Given the description of an element on the screen output the (x, y) to click on. 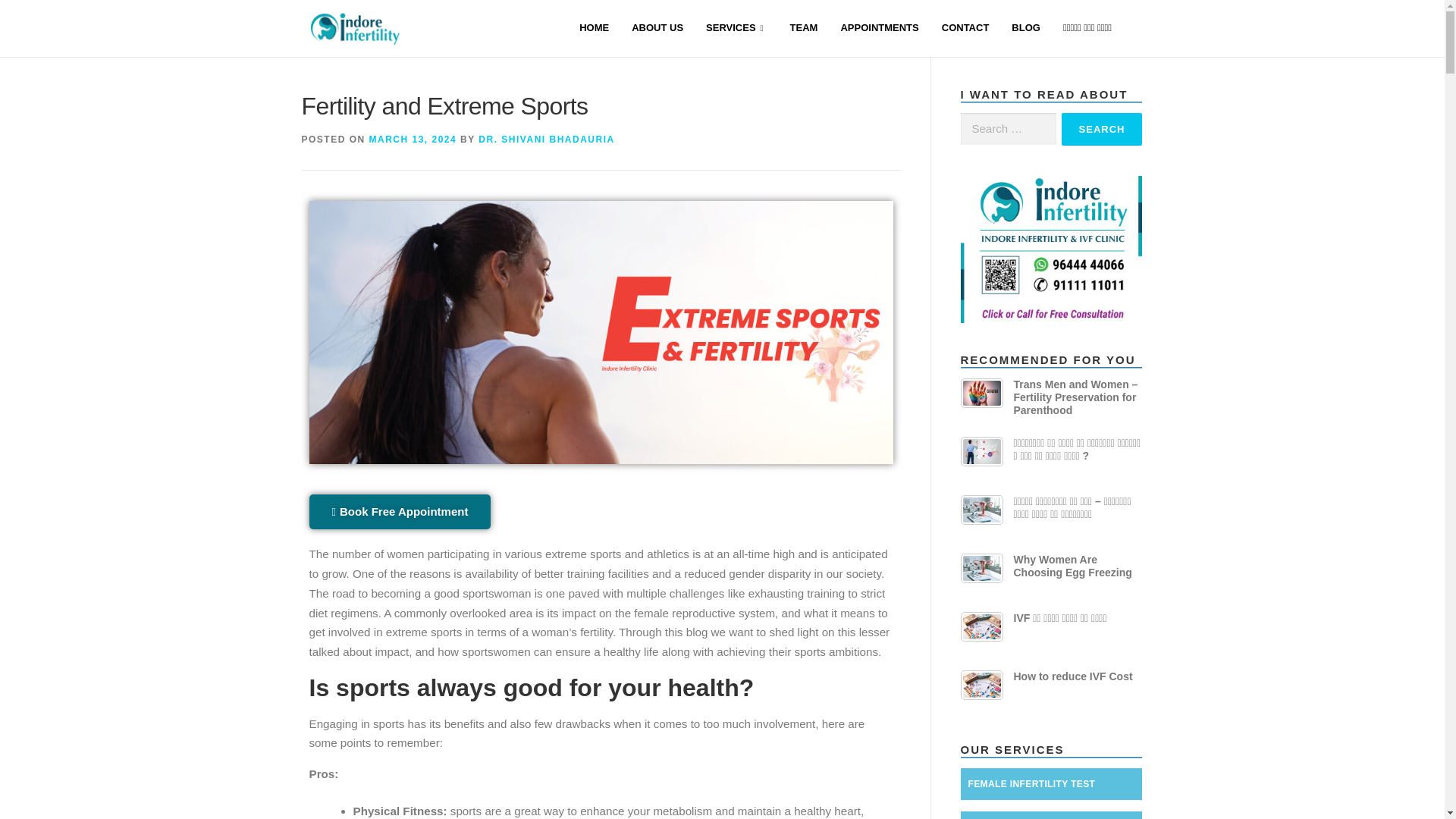
APPOINTMENTS (879, 28)
HOME (593, 28)
BLOG (1025, 28)
CONTACT (965, 28)
Search (1101, 129)
Search (1101, 129)
SERVICES (736, 28)
ABOUT US (657, 28)
TEAM (803, 28)
